Given the description of an element on the screen output the (x, y) to click on. 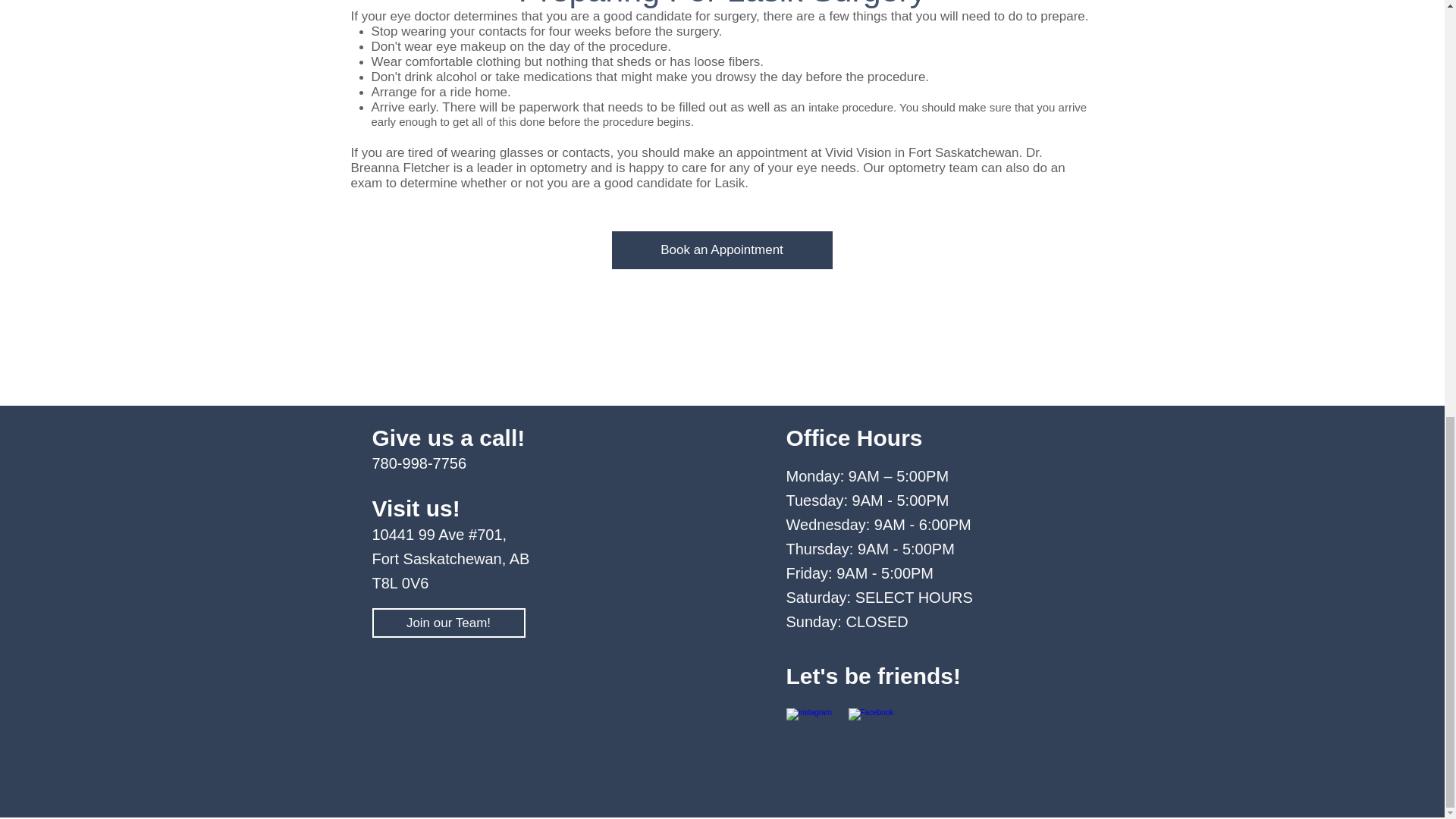
Join our Team! (447, 623)
Book an Appointment (721, 249)
780-998-7756 (418, 463)
